Given the description of an element on the screen output the (x, y) to click on. 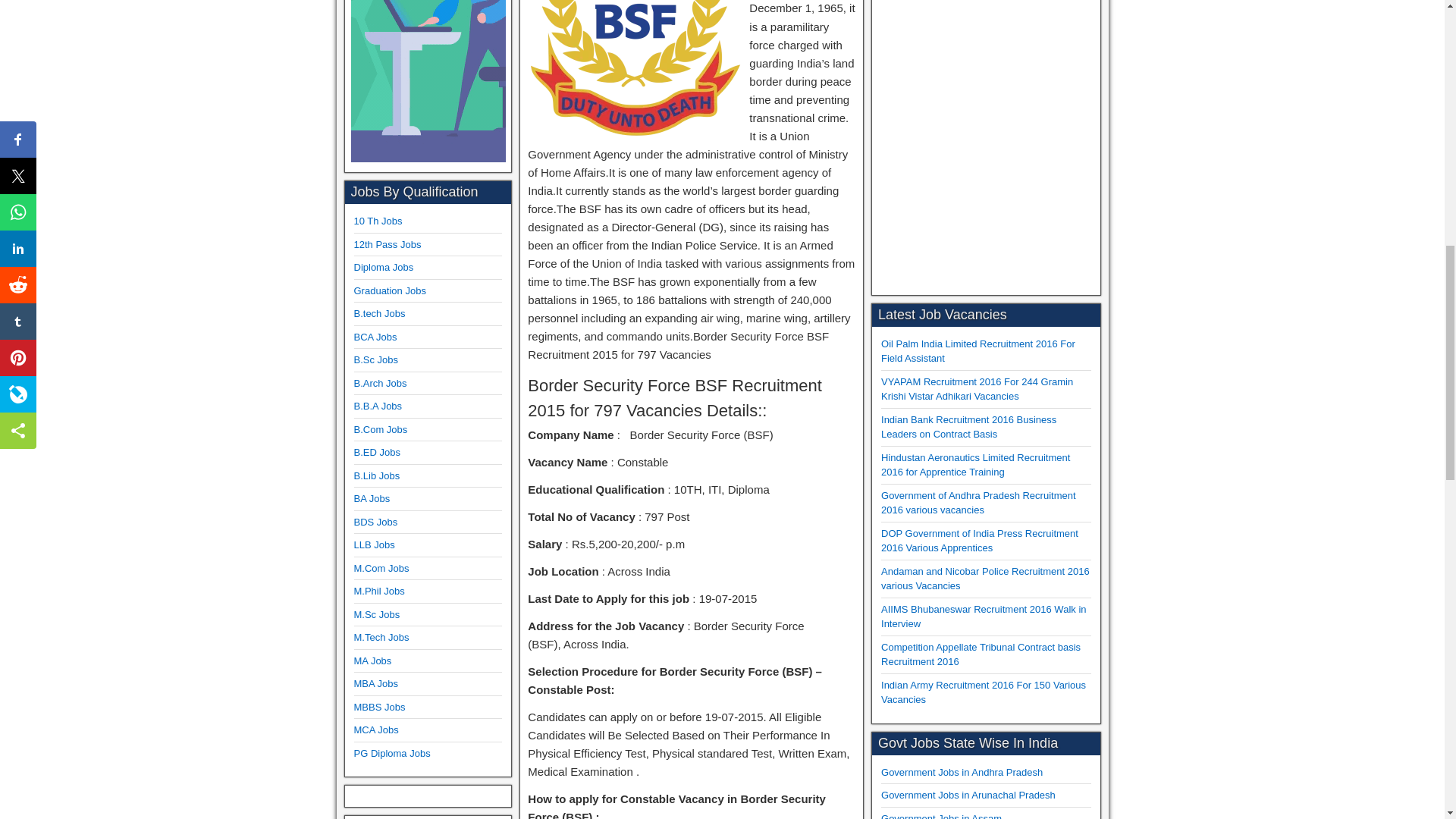
Diploma Jobs (383, 266)
M.Sc Jobs (375, 614)
12th Pass Jobs (386, 244)
Graduation Jobs (389, 290)
LLB Jobs (373, 544)
BCA Jobs (374, 337)
B.Lib Jobs (375, 475)
B.Sc Jobs (375, 359)
B.ED Jobs (375, 451)
B.Com Jobs (380, 429)
10 Th Jobs (377, 220)
M.Phil Jobs (378, 591)
B.B.A Jobs (377, 405)
B.Arch Jobs (379, 383)
B.tech Jobs (378, 313)
